Given the description of an element on the screen output the (x, y) to click on. 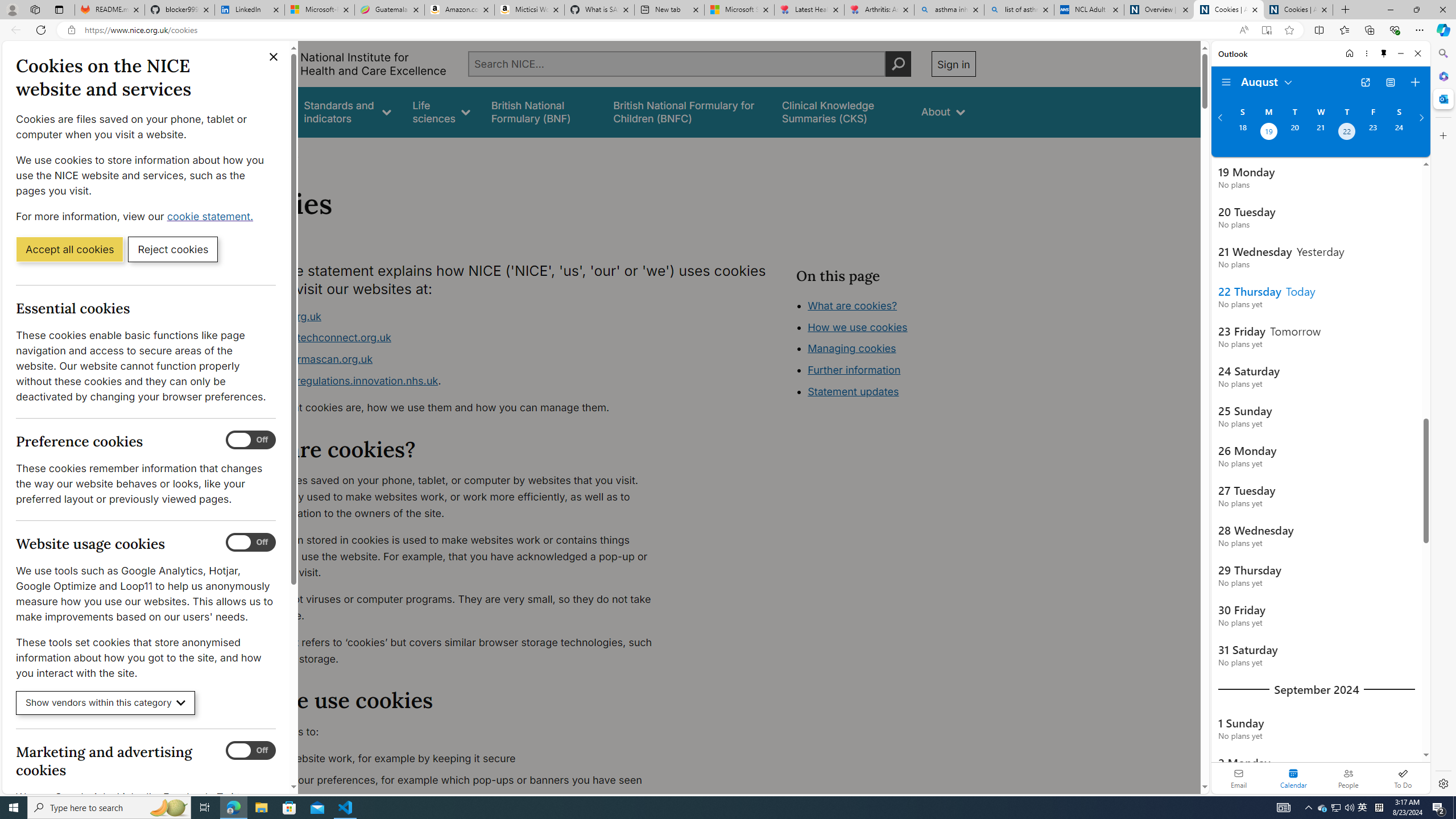
www.ukpharmascan.org.uk (305, 359)
Sunday, August 18, 2024.  (1242, 132)
Saturday, August 24, 2024.  (1399, 132)
How we use cookies (896, 389)
Home> (246, 152)
Website usage cookies (250, 542)
